Given the description of an element on the screen output the (x, y) to click on. 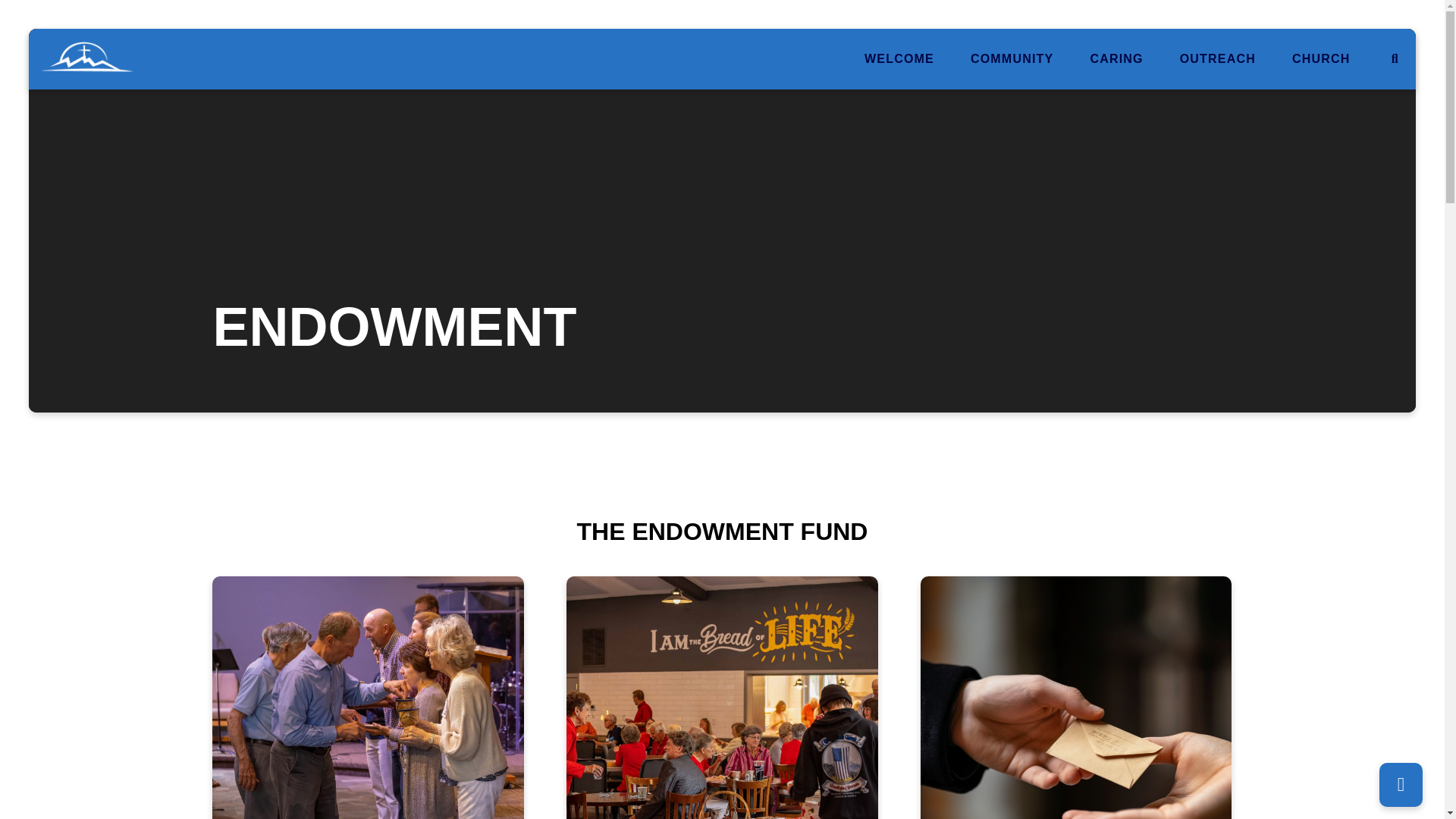
CHURCH (1321, 59)
COMMUNITY (1011, 59)
WELCOME (899, 59)
CARING (1115, 59)
OUTREACH (1217, 59)
